Given the description of an element on the screen output the (x, y) to click on. 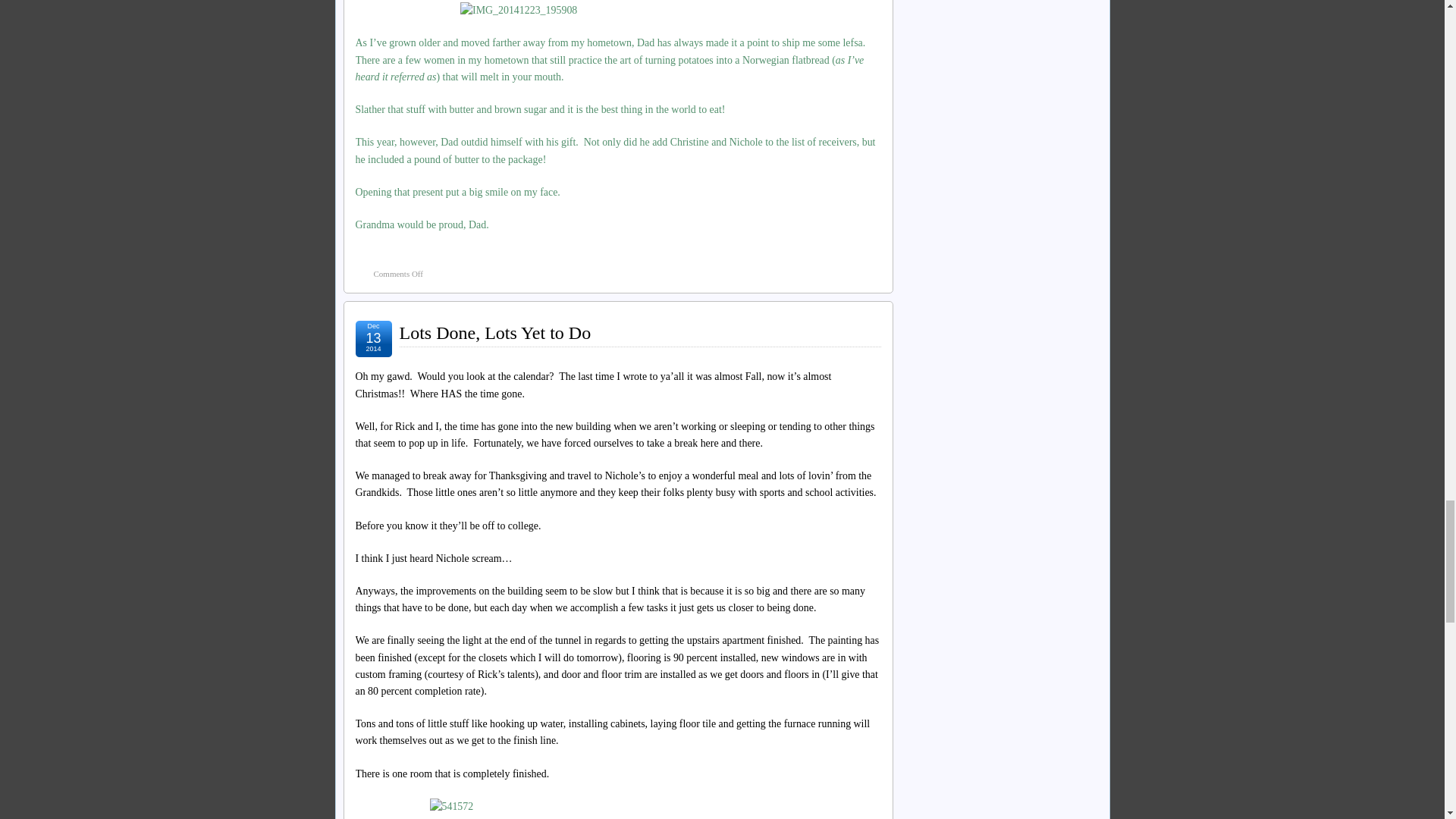
Lots Done, Lots Yet to Do (494, 332)
